Given the description of an element on the screen output the (x, y) to click on. 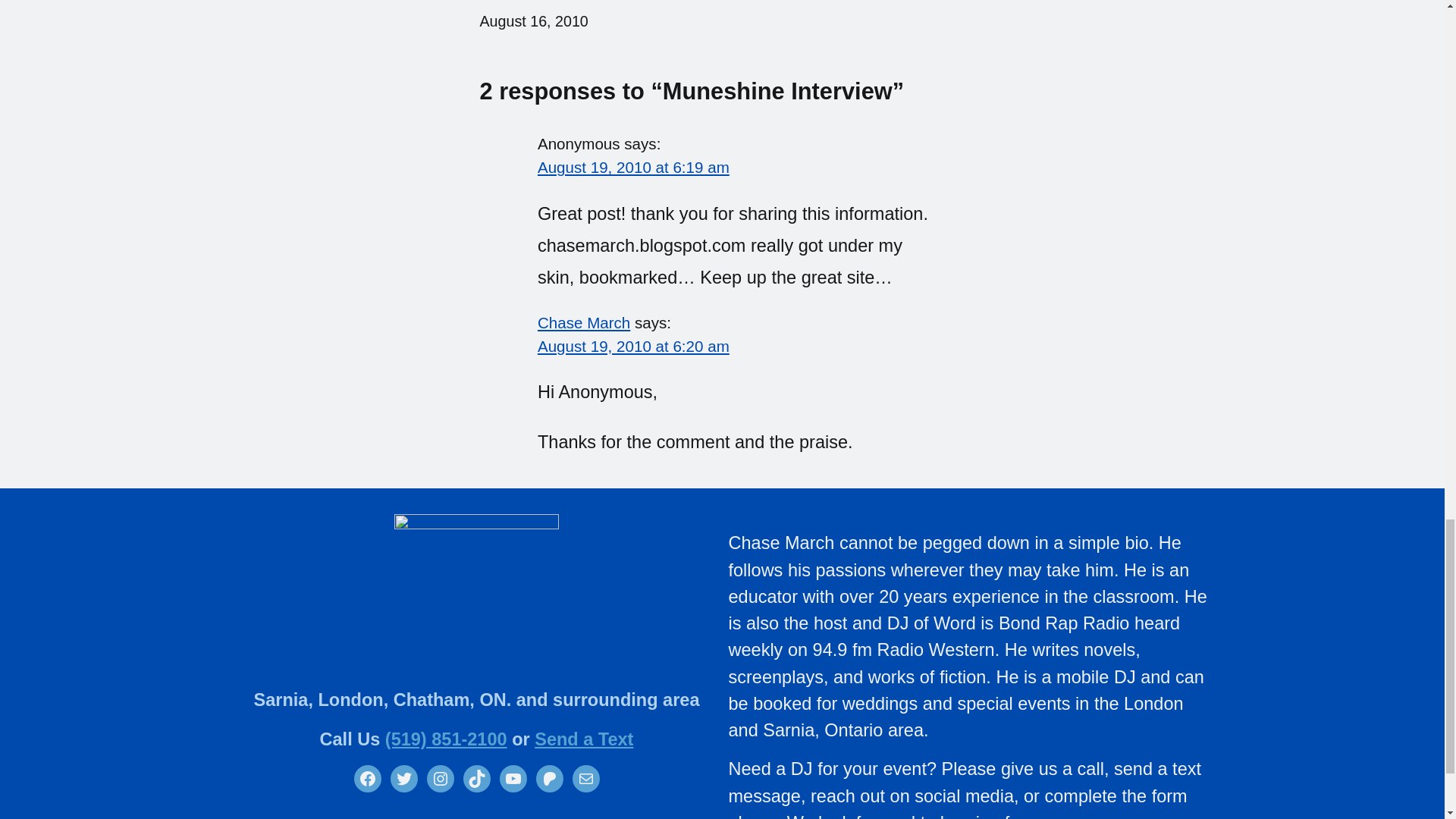
Instagram (439, 778)
Patreon (548, 778)
Chase March (583, 322)
Send a Text (583, 739)
Facebook (366, 778)
YouTube (512, 778)
Twitter (403, 778)
August 19, 2010 at 6:20 am (633, 345)
TikTok (476, 778)
August 19, 2010 at 6:19 am (633, 167)
